Given the description of an element on the screen output the (x, y) to click on. 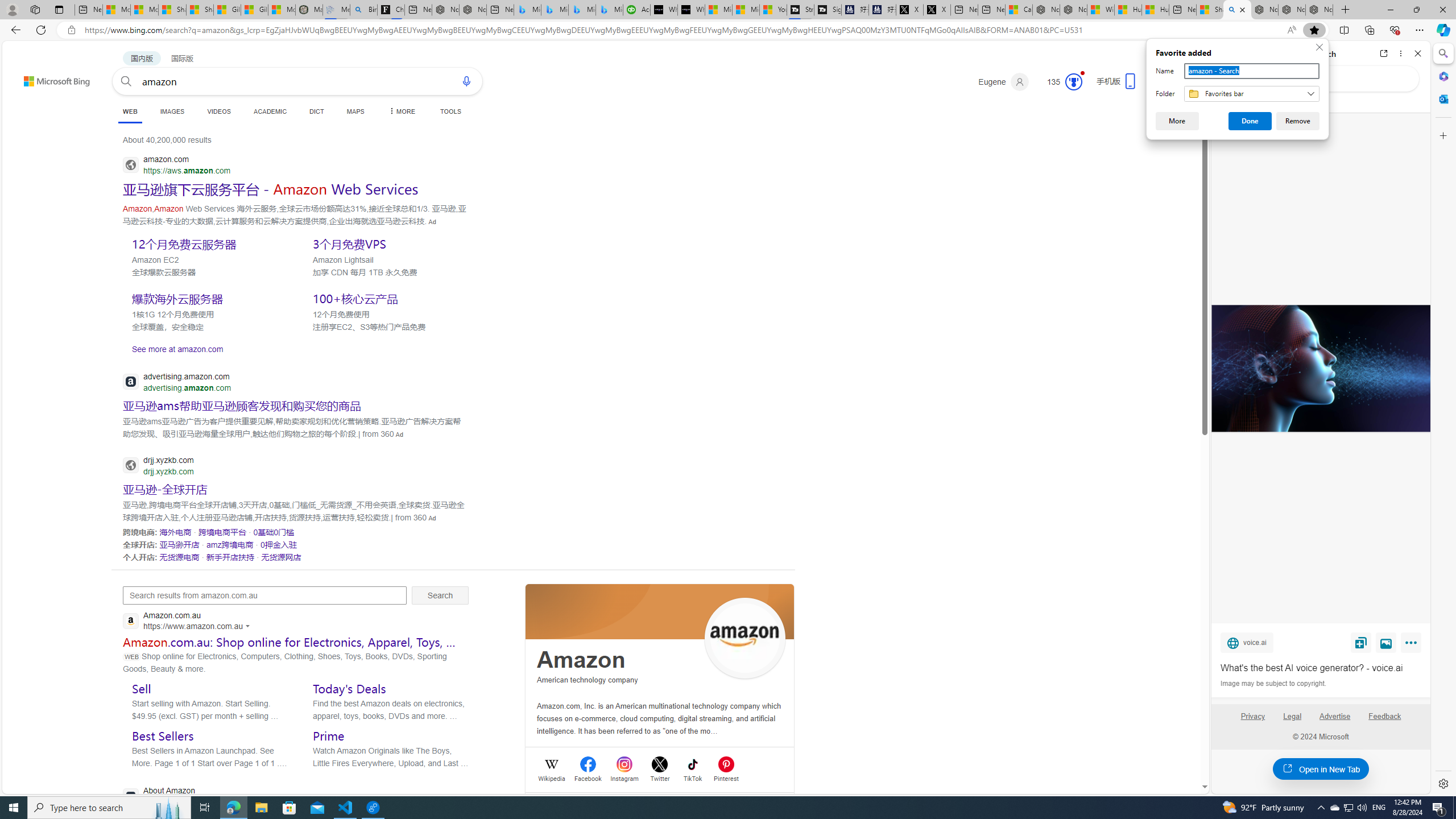
Save (1361, 642)
SERP,5573 (230, 556)
Open in New Tab (1321, 768)
Type here to search (108, 807)
Outlook (1442, 98)
Shanghai, China hourly forecast | Microsoft Weather (1347, 807)
See more at amazon.com (1209, 9)
Edge Feedback - 1 running window (295, 348)
SERP,5566 (373, 807)
Instagram (175, 532)
